Given the description of an element on the screen output the (x, y) to click on. 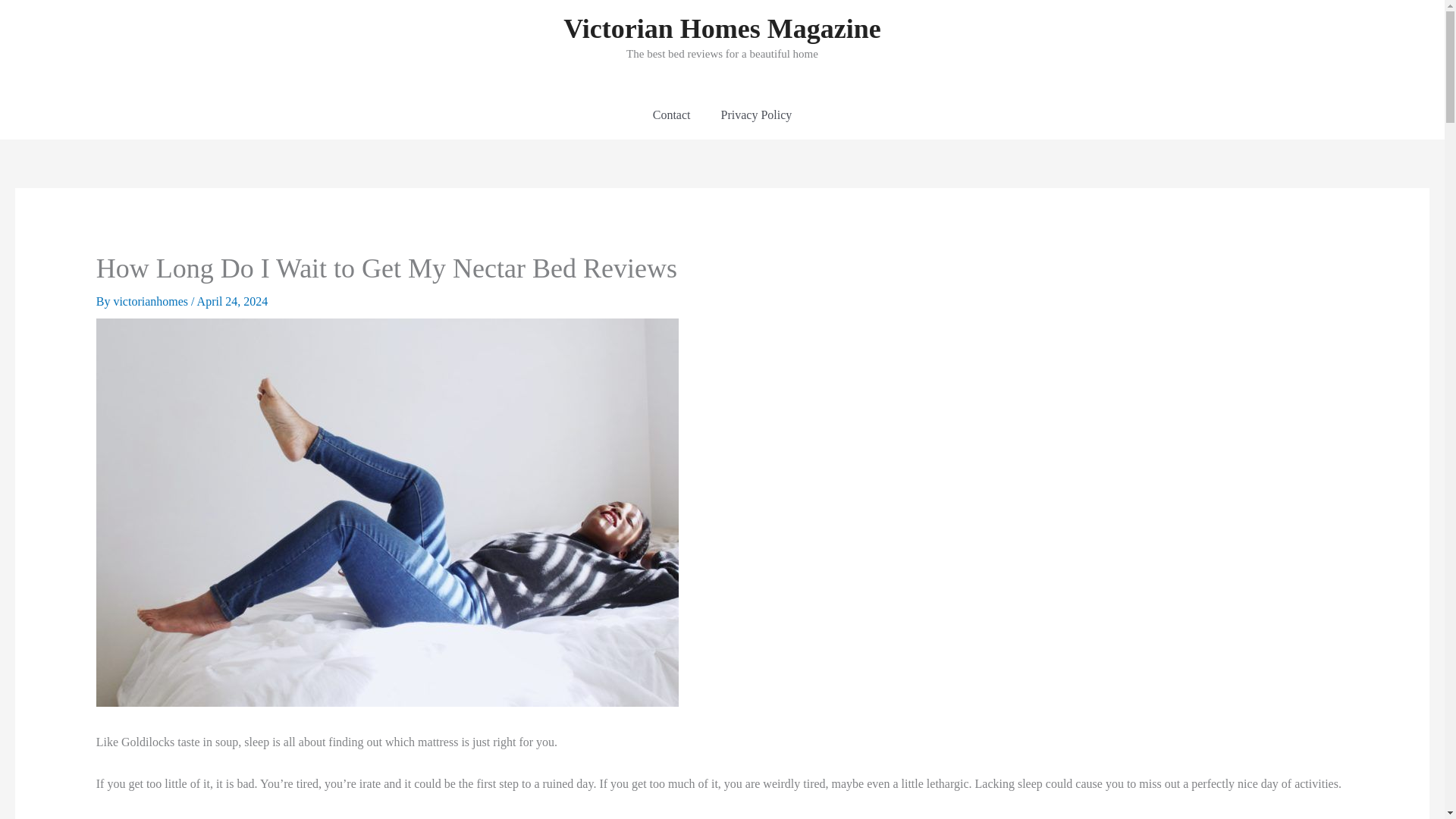
Victorian Homes Magazine (721, 28)
victorianhomes (151, 300)
Contact (671, 114)
Privacy Policy (755, 114)
View all posts by victorianhomes (151, 300)
